Given the description of an element on the screen output the (x, y) to click on. 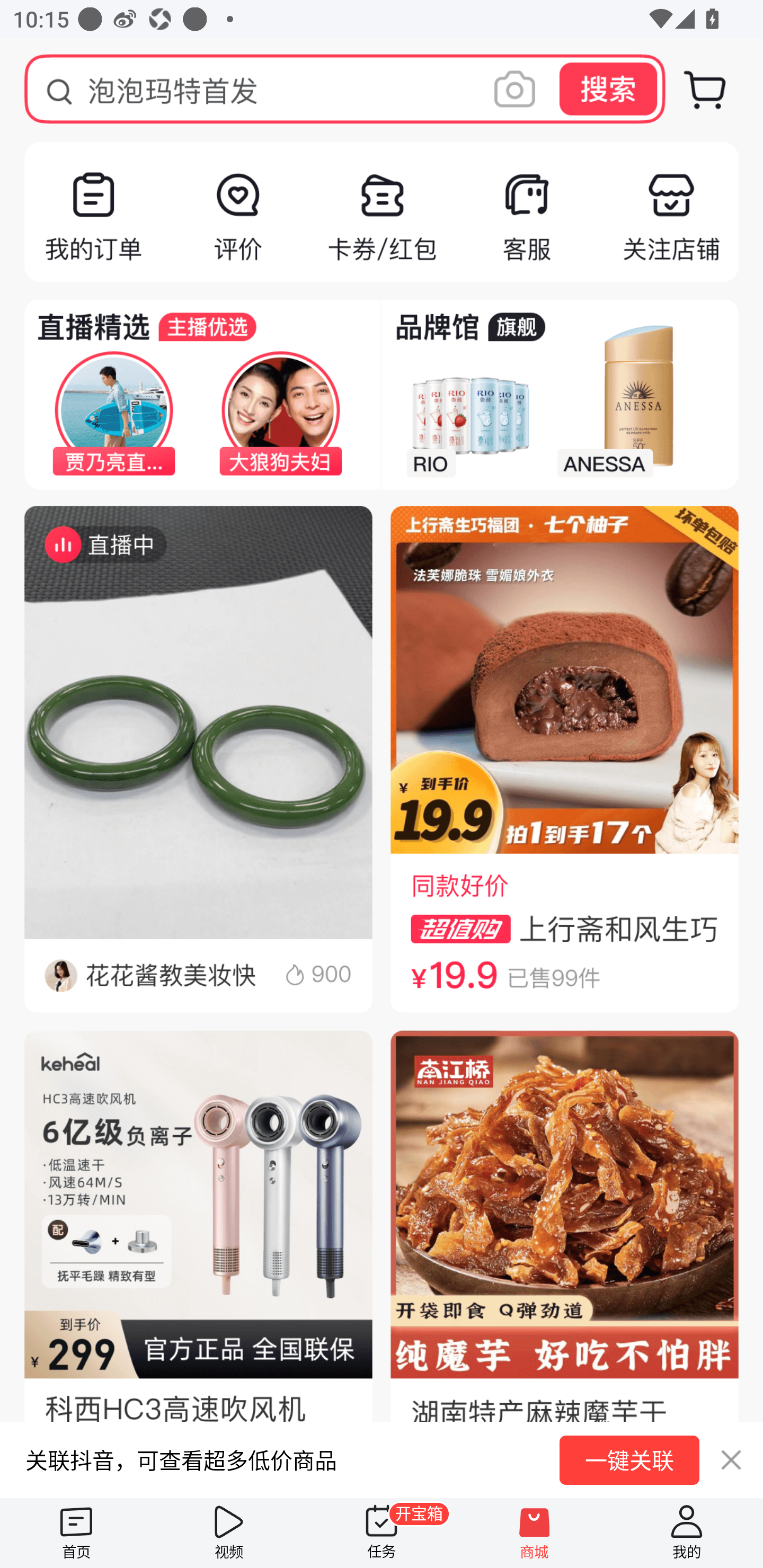
关联抖音，可查看超多低价商品 一键关联 (381, 1459)
一键关联 (629, 1460)
首页 (76, 1532)
视频 (228, 1532)
任务 开宝箱 (381, 1532)
商城 (533, 1532)
我的 (686, 1532)
